Given the description of an element on the screen output the (x, y) to click on. 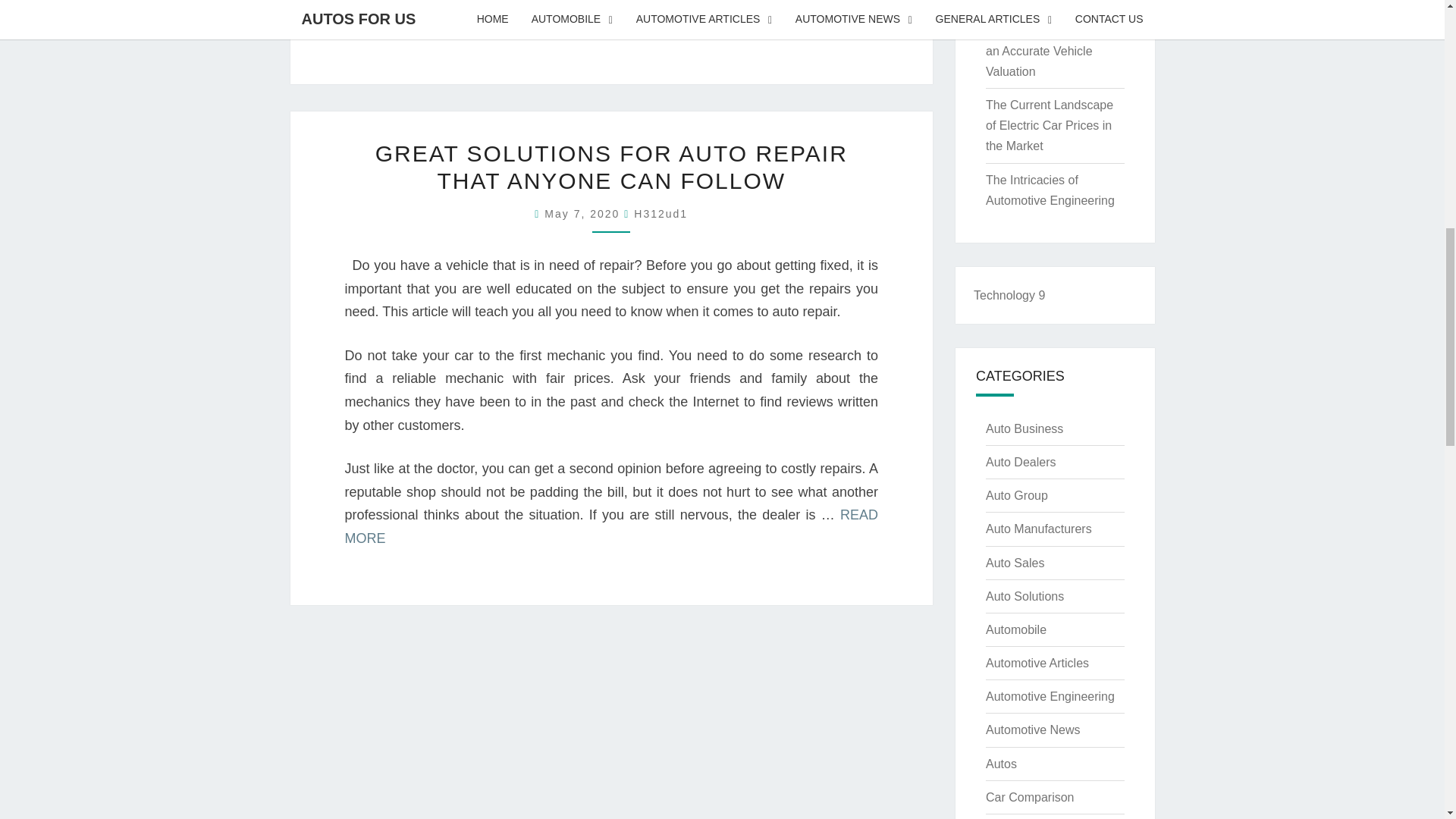
READ MORE (610, 526)
READ MORE (464, 17)
May 7, 2020 (584, 214)
View all posts by H312ud1 (660, 214)
GREAT SOLUTIONS FOR AUTO REPAIR THAT ANYONE CAN FOLLOW (611, 166)
10:01 pm (584, 214)
H312ud1 (660, 214)
